Given the description of an element on the screen output the (x, y) to click on. 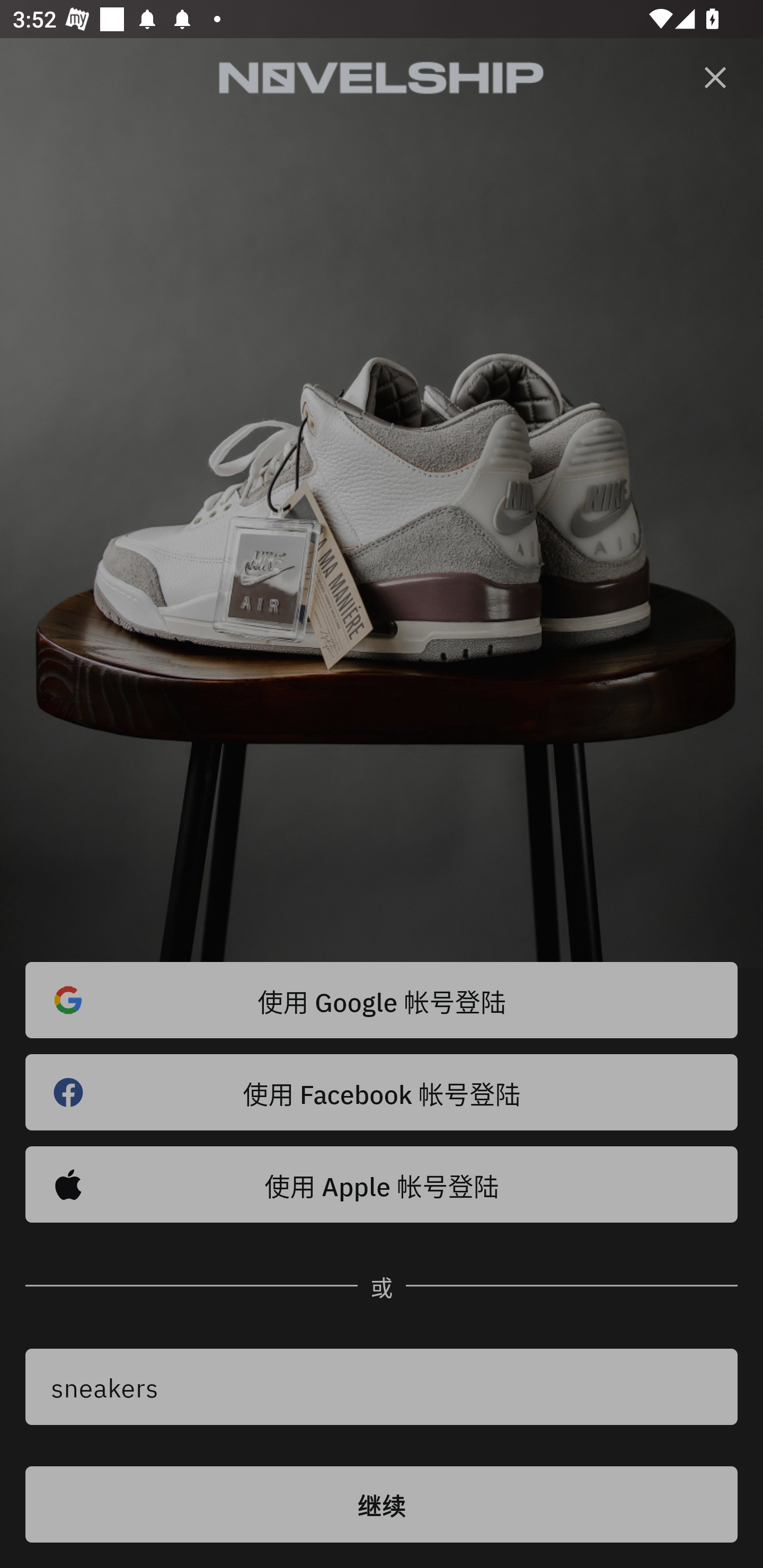
使用 Google 帐号登陆 (381, 1000)
使用 Facebook 帐号登陆 󰈌 (381, 1091)
 使用 Apple 帐号登陆 (381, 1184)
sneakers (381, 1386)
继续 (381, 1504)
